Given the description of an element on the screen output the (x, y) to click on. 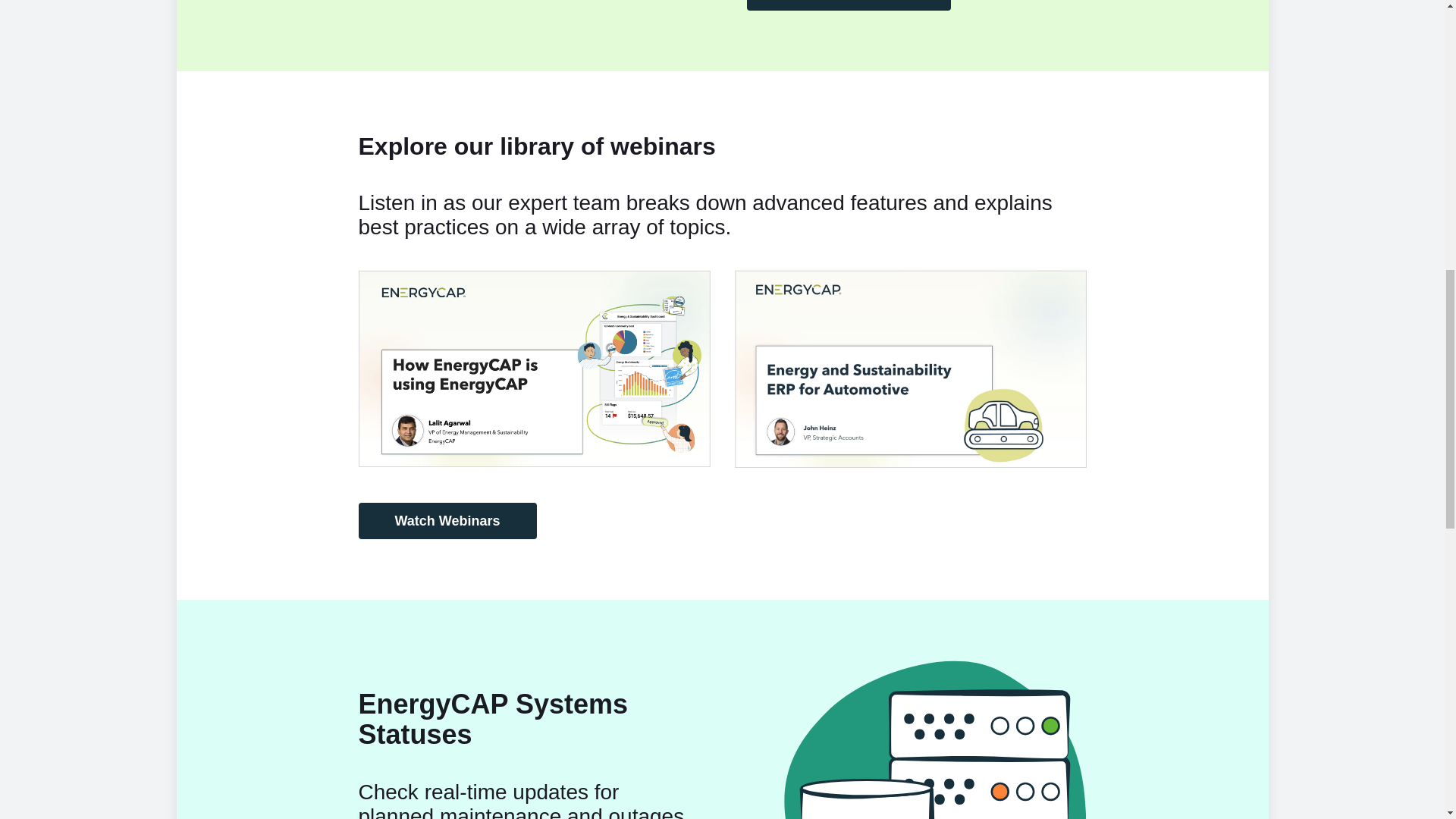
Join the Community (847, 5)
Watch Webinars (446, 520)
